Given the description of an element on the screen output the (x, y) to click on. 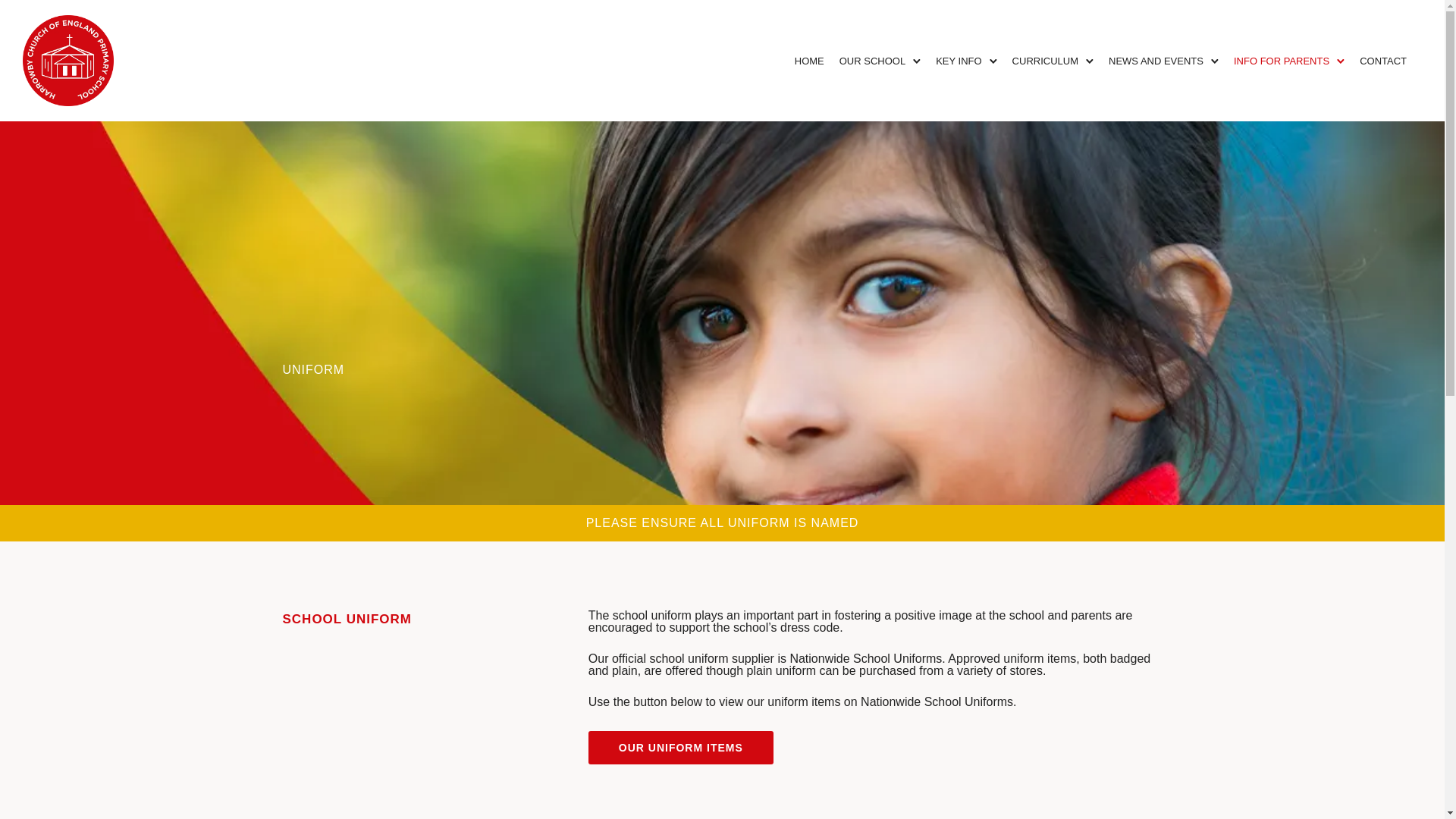
OUR SCHOOL (871, 60)
Home (809, 60)
NEWS AND EVENTS (1155, 60)
KEY INFO (958, 60)
Our school (871, 60)
Key Info (958, 60)
CURRICULUM (1045, 60)
HOME (809, 60)
